Given the description of an element on the screen output the (x, y) to click on. 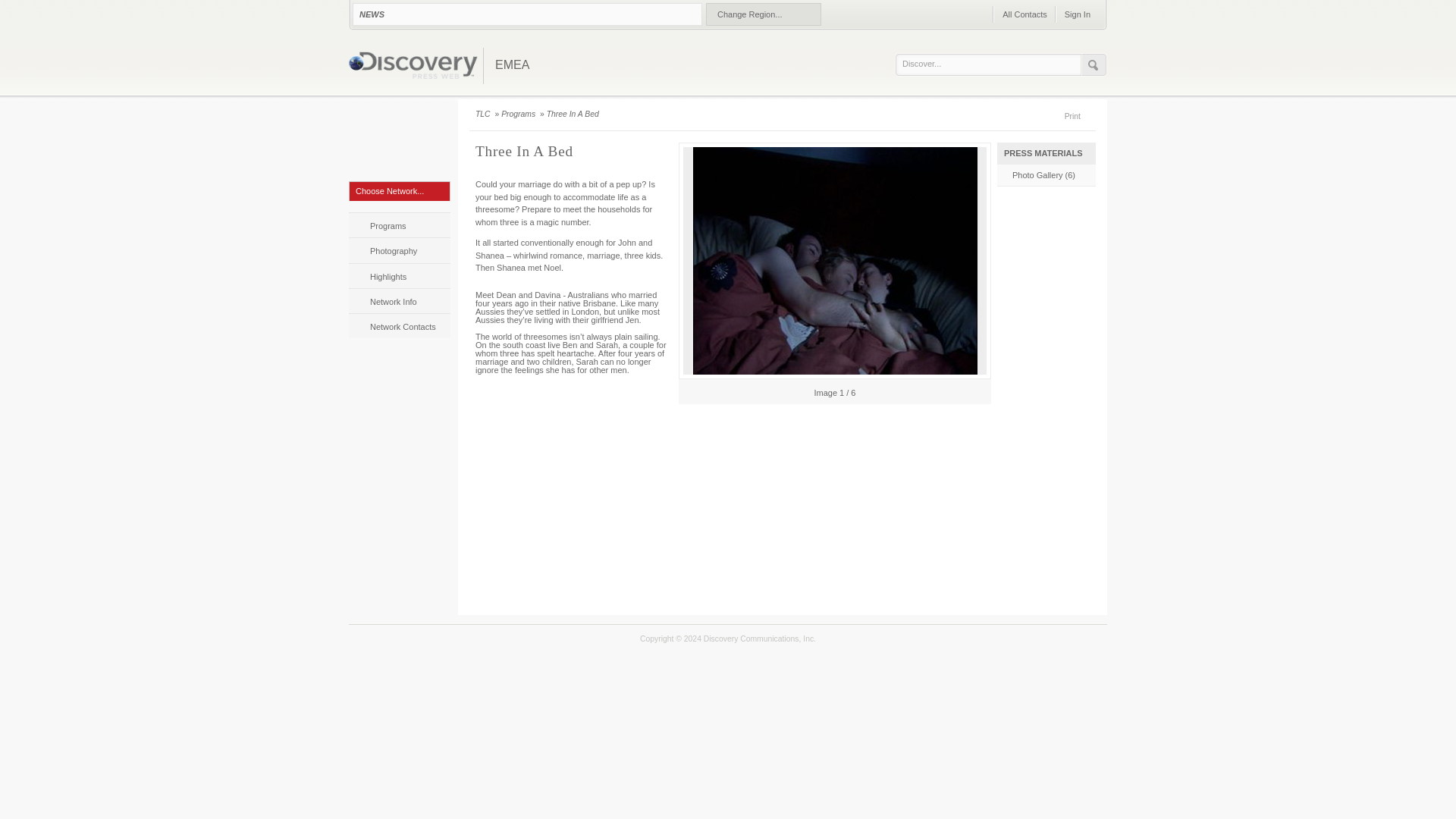
TLC (399, 139)
Highlights (399, 275)
Network Info (399, 300)
Previous (686, 391)
Photography (399, 249)
All Contacts (1023, 13)
Discover... (991, 63)
Discovery Press Web (413, 66)
Network Contacts (399, 325)
Three In A Bed (574, 113)
